Given the description of an element on the screen output the (x, y) to click on. 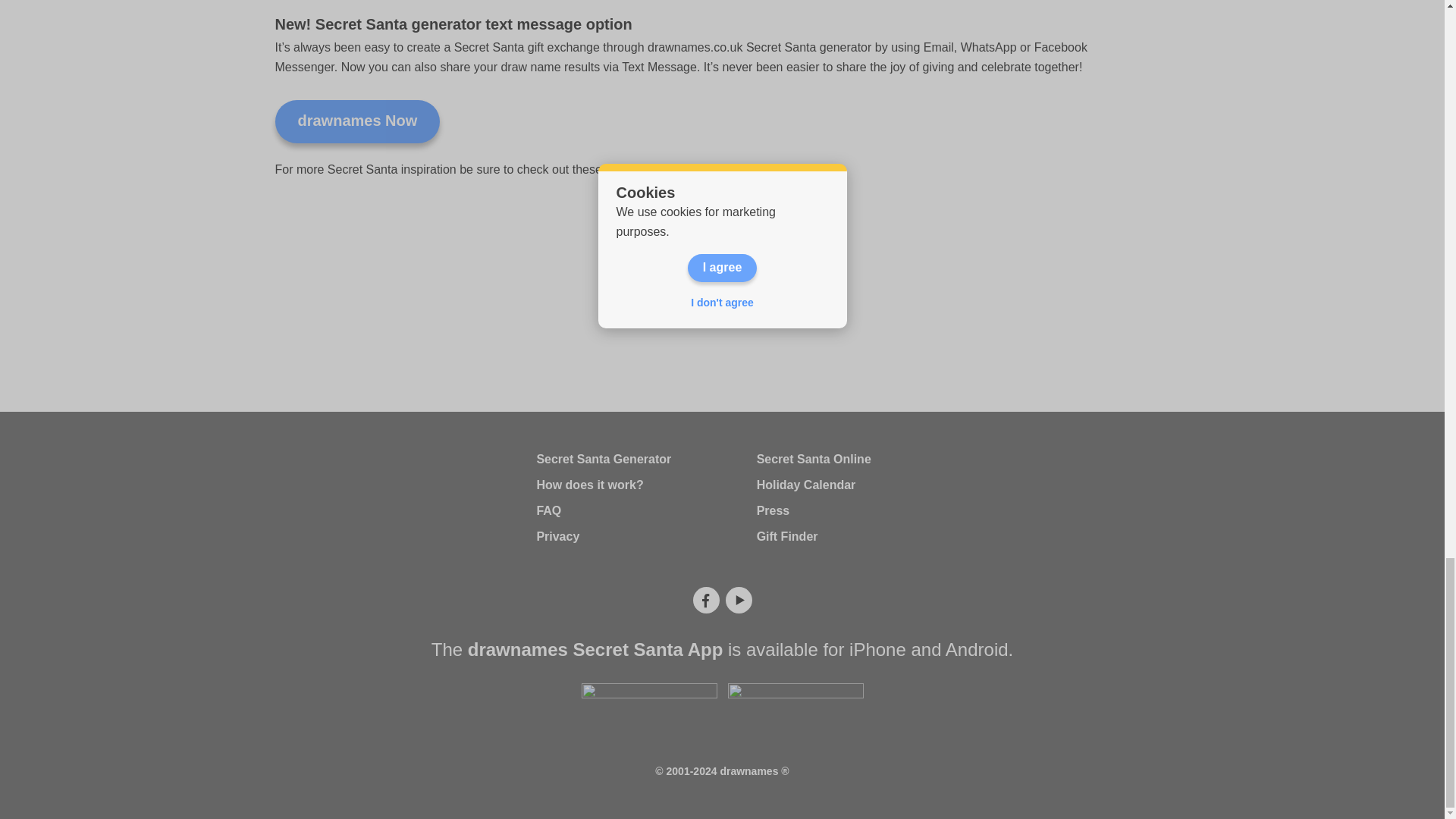
Secret Santa Generator (603, 459)
Privacy (557, 535)
Press (773, 510)
Secret Santa Ideas (659, 169)
How does it work? (589, 484)
FAQ (547, 510)
drawnames Now (357, 121)
Holiday Calendar (806, 484)
Secret Santa Online (813, 459)
Gift Finder (787, 535)
